Given the description of an element on the screen output the (x, y) to click on. 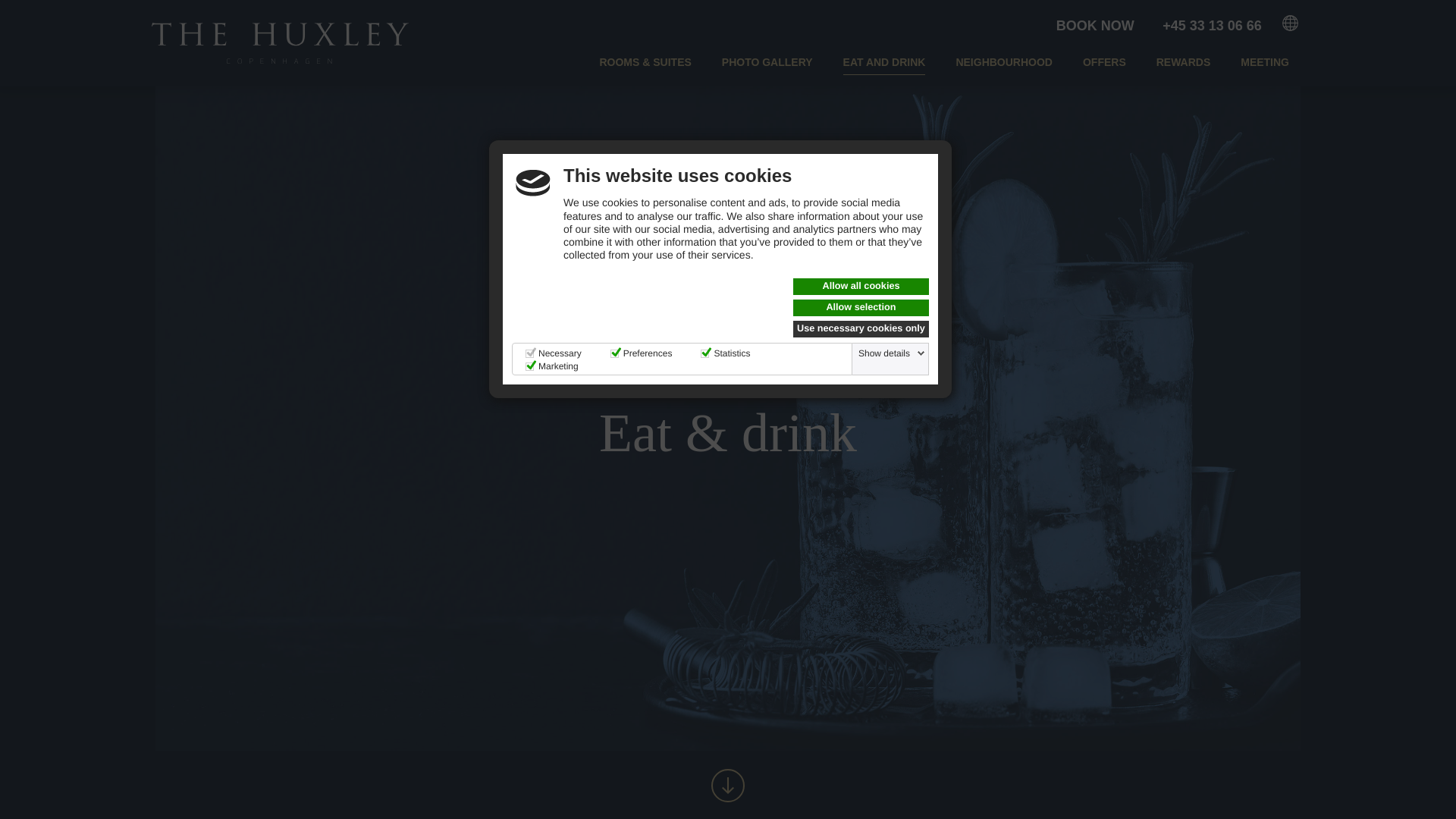
Show details (892, 353)
Allow all cookies (860, 286)
Use necessary cookies only (860, 329)
BOOK NOW (1095, 30)
Allow selection (860, 307)
